Given the description of an element on the screen output the (x, y) to click on. 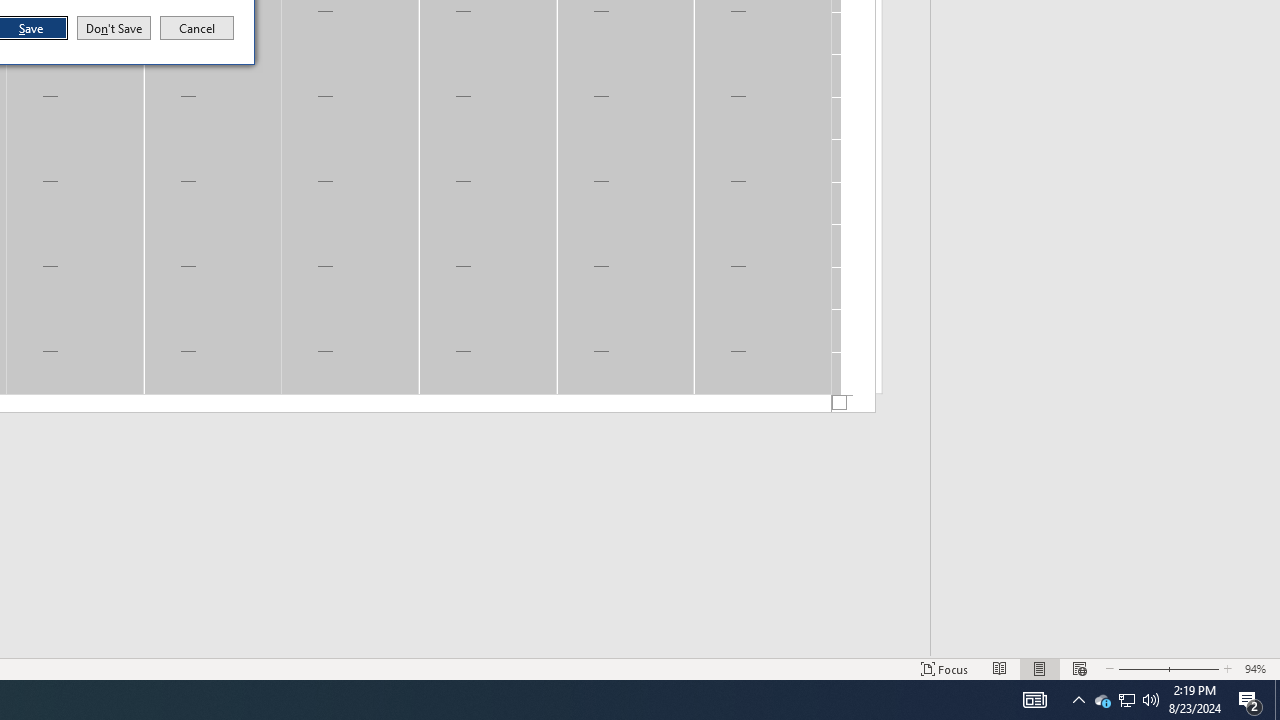
AutomationID: 4105 (1034, 699)
Q2790: 100% (1151, 699)
Action Center, 2 new notifications (1126, 699)
